Given the description of an element on the screen output the (x, y) to click on. 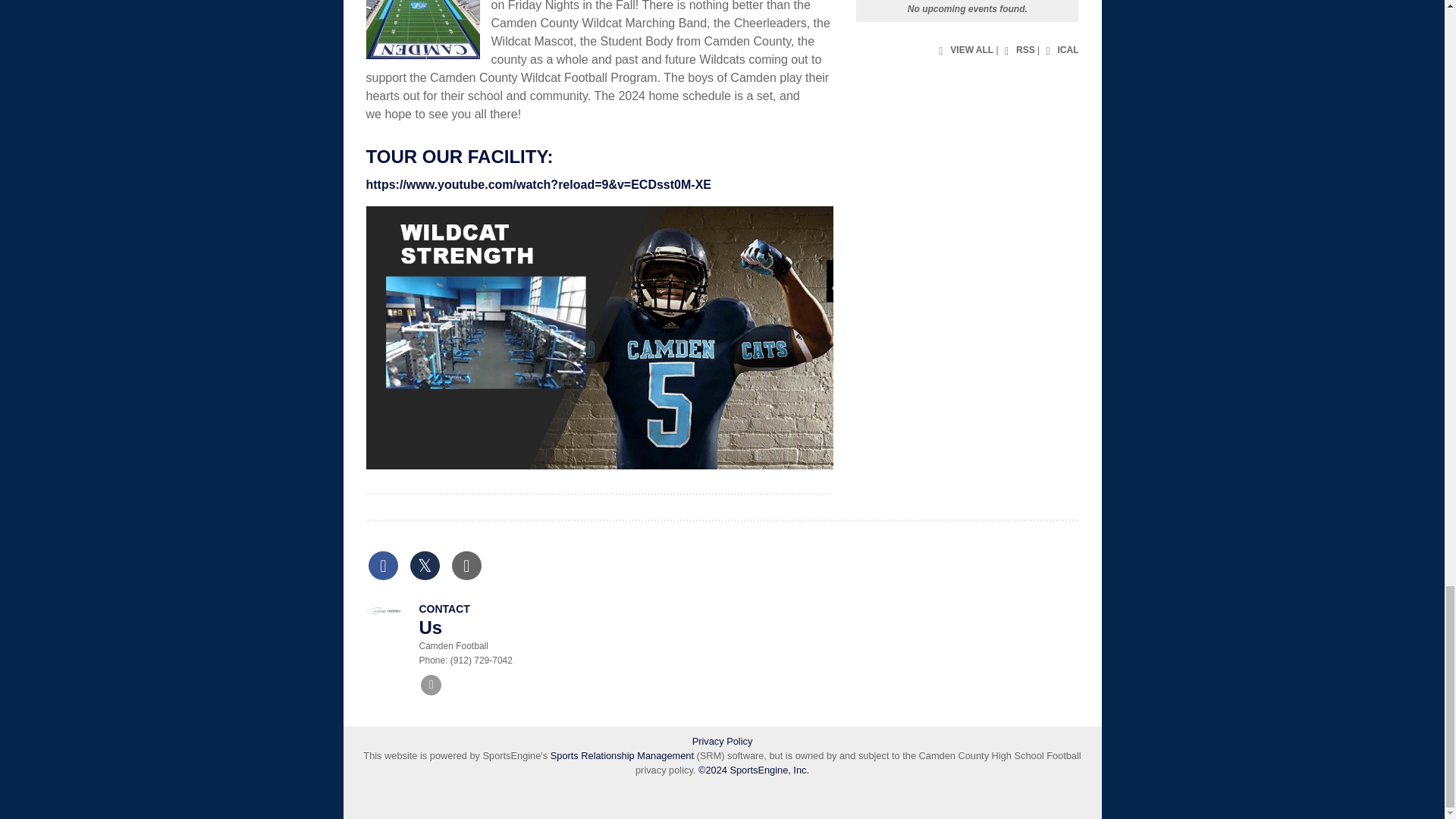
Subscribe to RSS Feed (1018, 50)
VIEW ALL (963, 50)
Privacy Policy (722, 740)
Sports Relationship Management (623, 755)
View All (963, 50)
ICAL (1060, 50)
RSS (1018, 50)
